Given the description of an element on the screen output the (x, y) to click on. 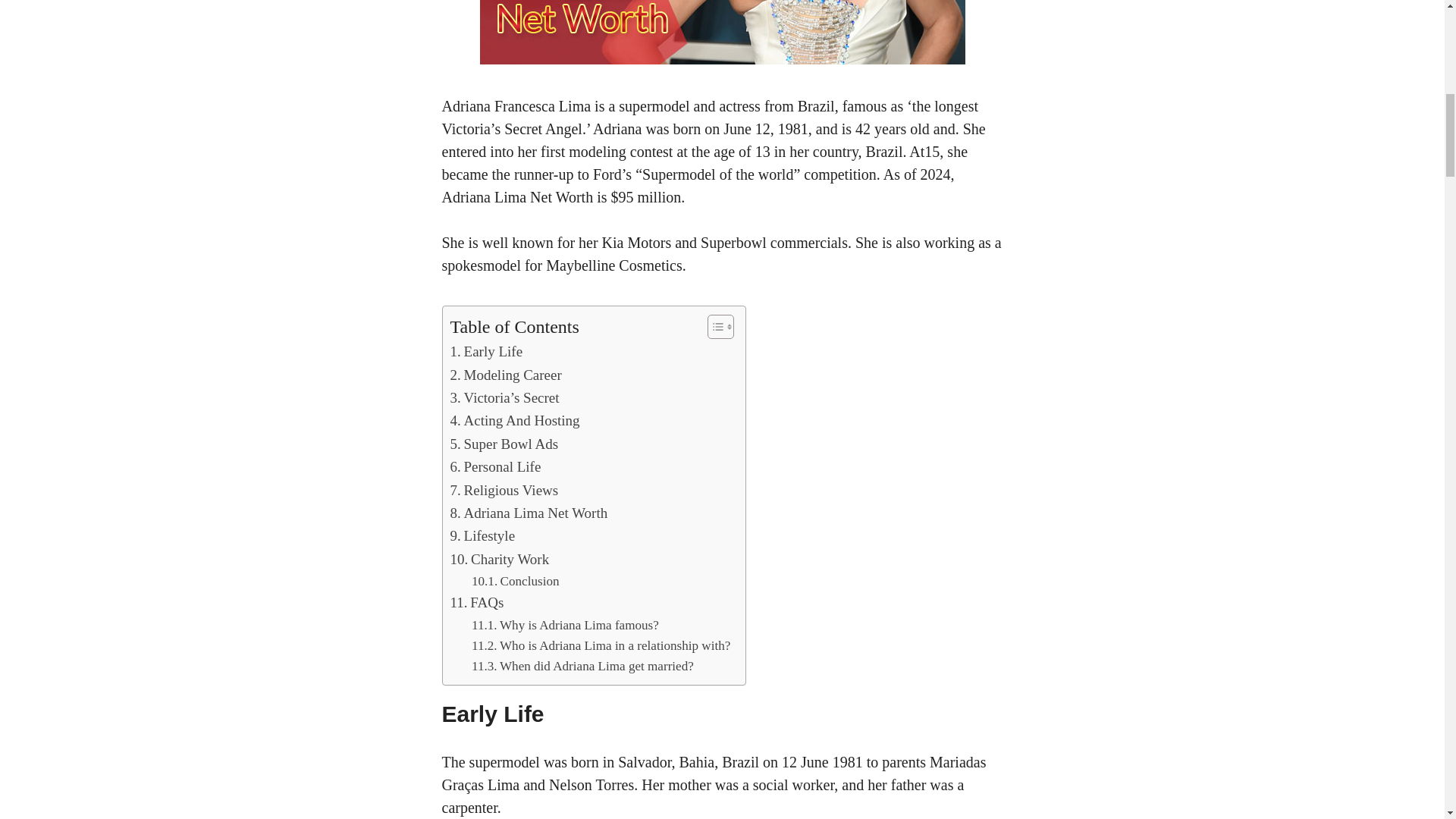
Modeling Career (505, 374)
Why is Adriana Lima famous? (565, 625)
Conclusion (515, 580)
Adriana Lima Net Worth (528, 513)
Lifestyle (482, 535)
FAQs (476, 602)
Super Bowl Ads (504, 444)
Charity Work (499, 558)
Personal Life (495, 466)
When did Adriana Lima get married? (582, 666)
Early Life (485, 351)
Who is Adriana Lima in a relationship with? (600, 645)
Religious Views (504, 490)
Acting And Hosting (514, 420)
